Given the description of an element on the screen output the (x, y) to click on. 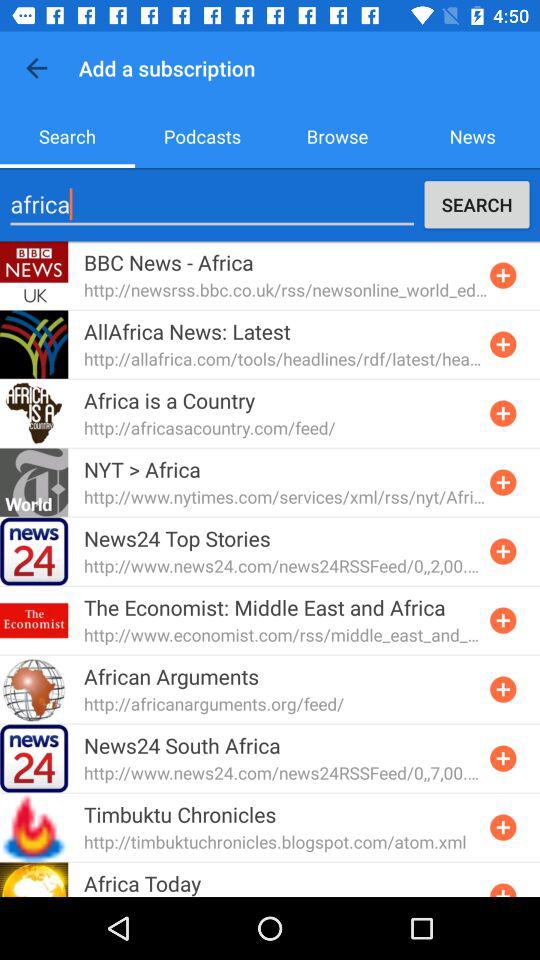
add subscription (503, 344)
